Given the description of an element on the screen output the (x, y) to click on. 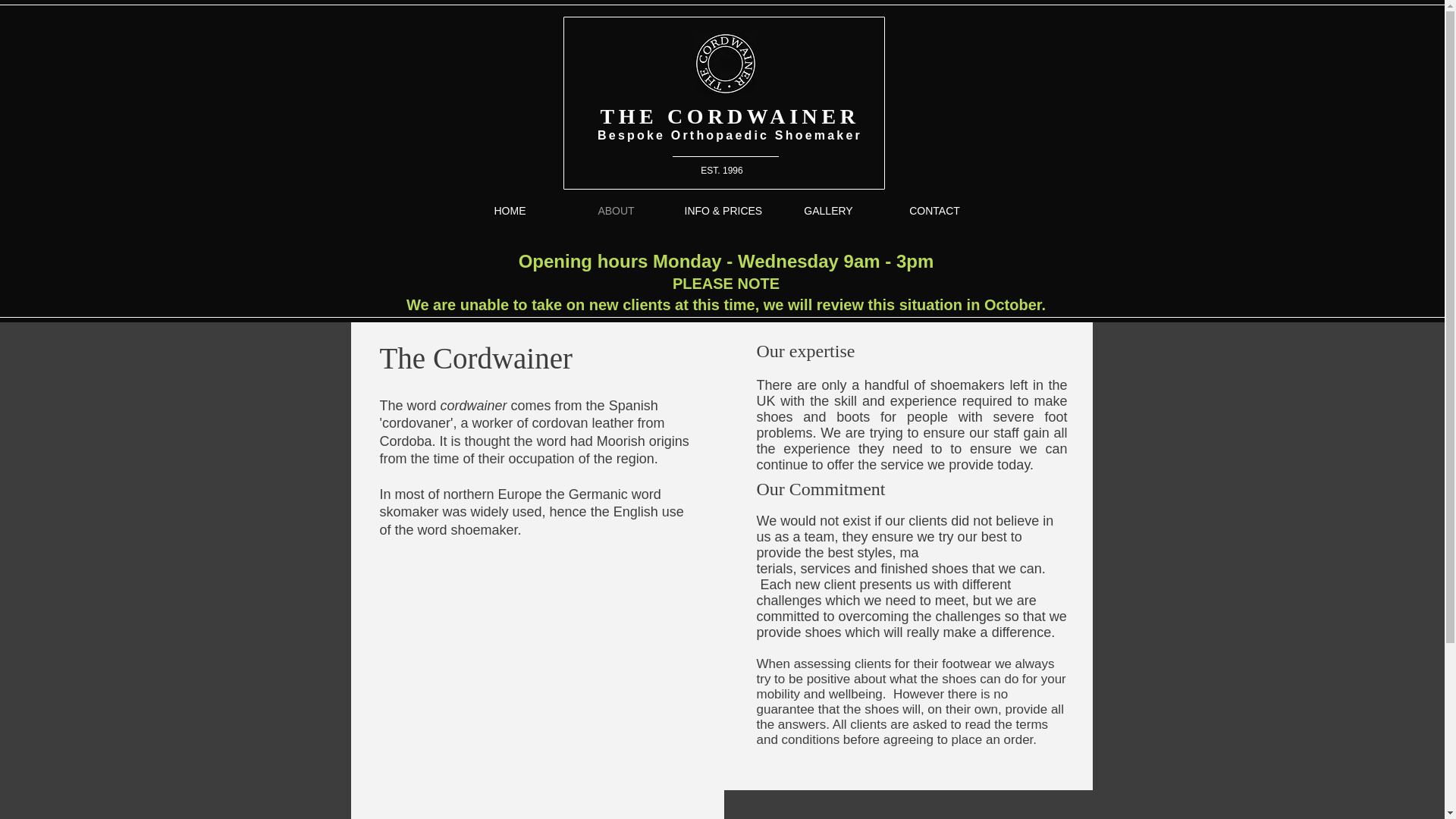
CONTACT (933, 210)
reverse rivet.jpg (724, 63)
THE CORDWAINER (729, 115)
HOME (509, 210)
ABOUT (615, 210)
Bespoke Orthopaedic Shoemaker (728, 134)
EST. 1996 (721, 170)
GALLERY (827, 210)
